Given the description of an element on the screen output the (x, y) to click on. 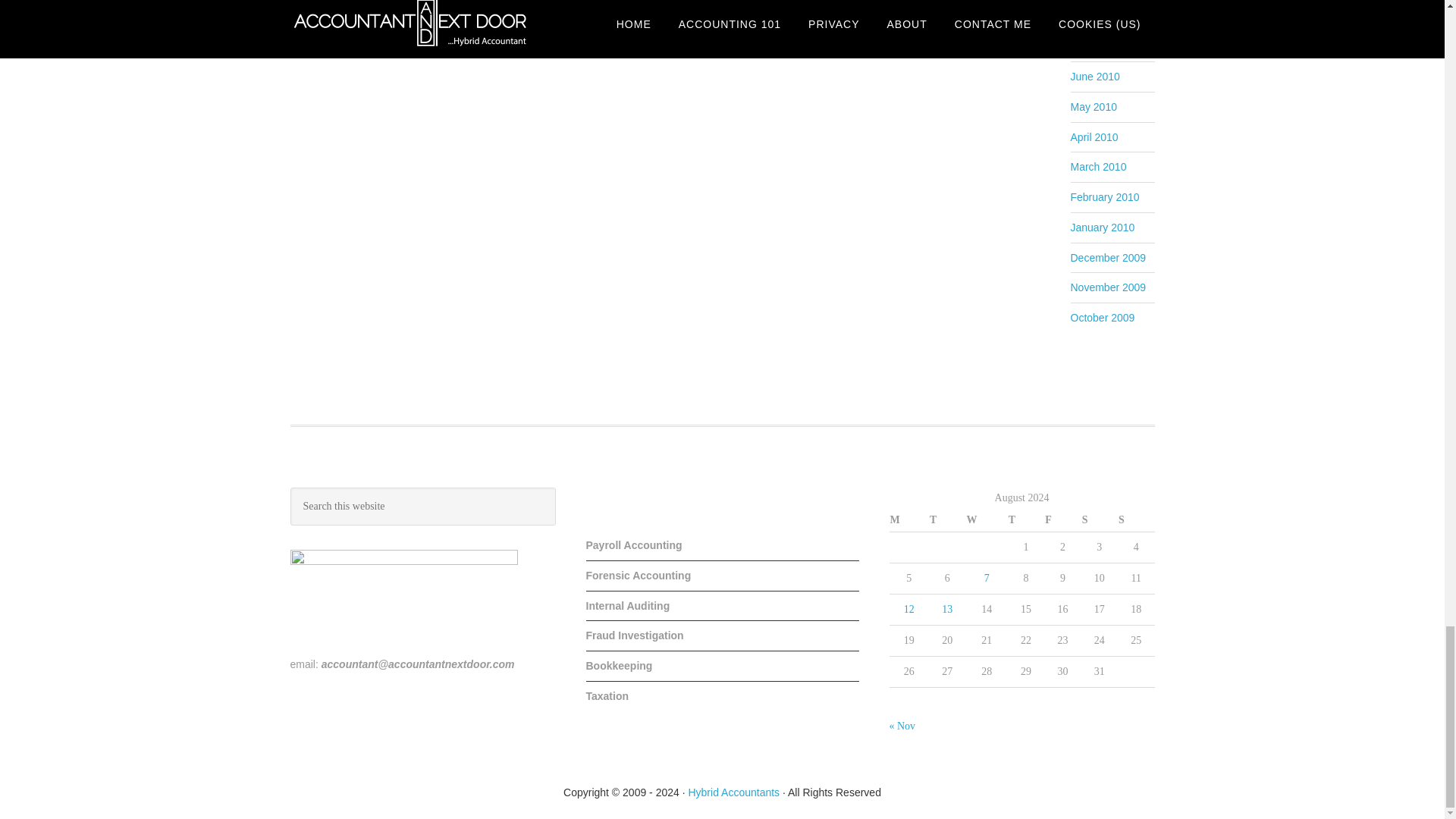
Monday (908, 520)
Wednesday (986, 520)
Tuesday (946, 520)
